Given the description of an element on the screen output the (x, y) to click on. 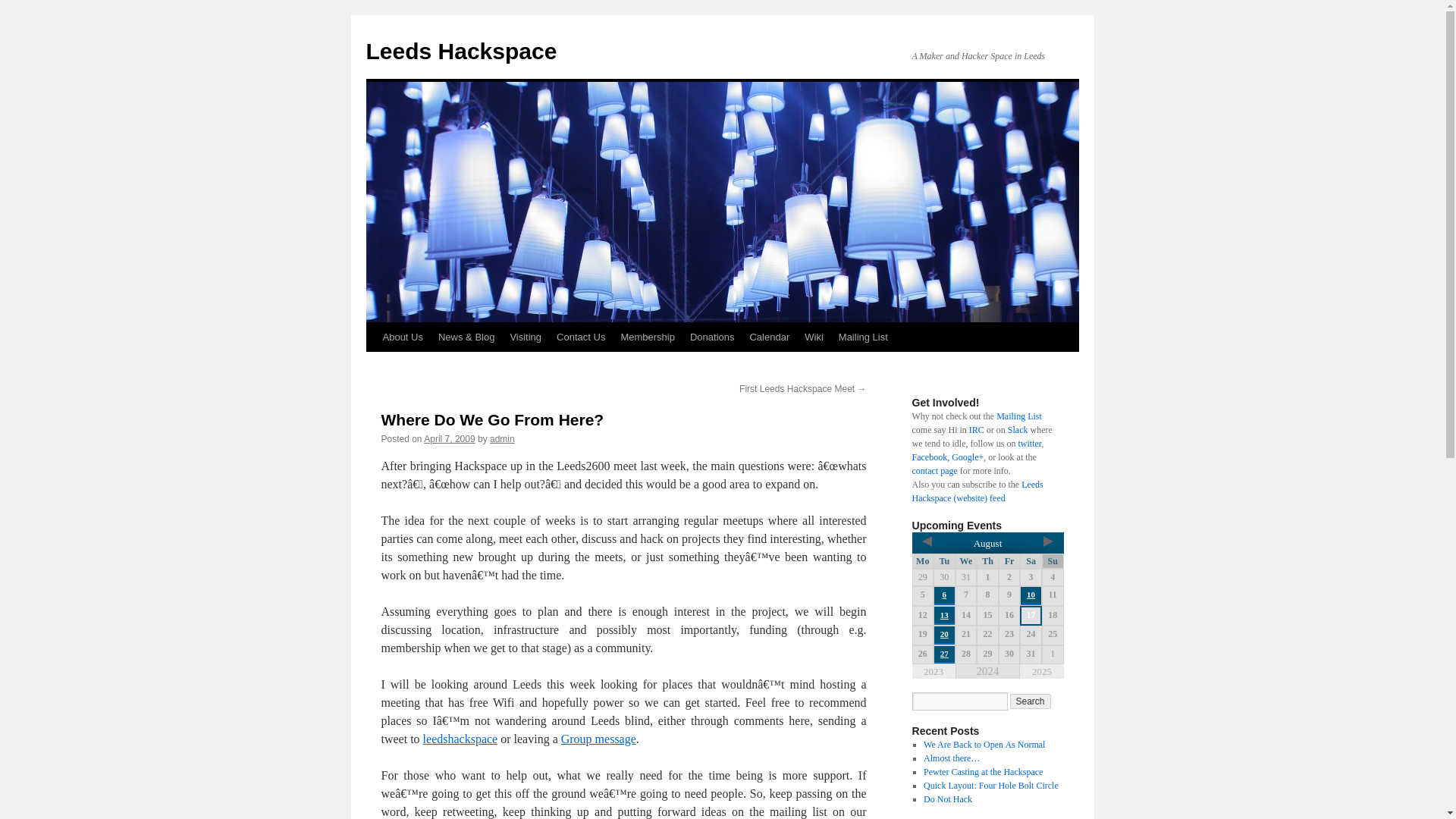
Wiki (813, 337)
20 (944, 633)
Membership (647, 337)
twitter (1029, 443)
Search (1030, 701)
leedshackspace (460, 738)
10 (1030, 593)
Group message (598, 738)
IRC (976, 429)
Contact Us (580, 337)
